Given the description of an element on the screen output the (x, y) to click on. 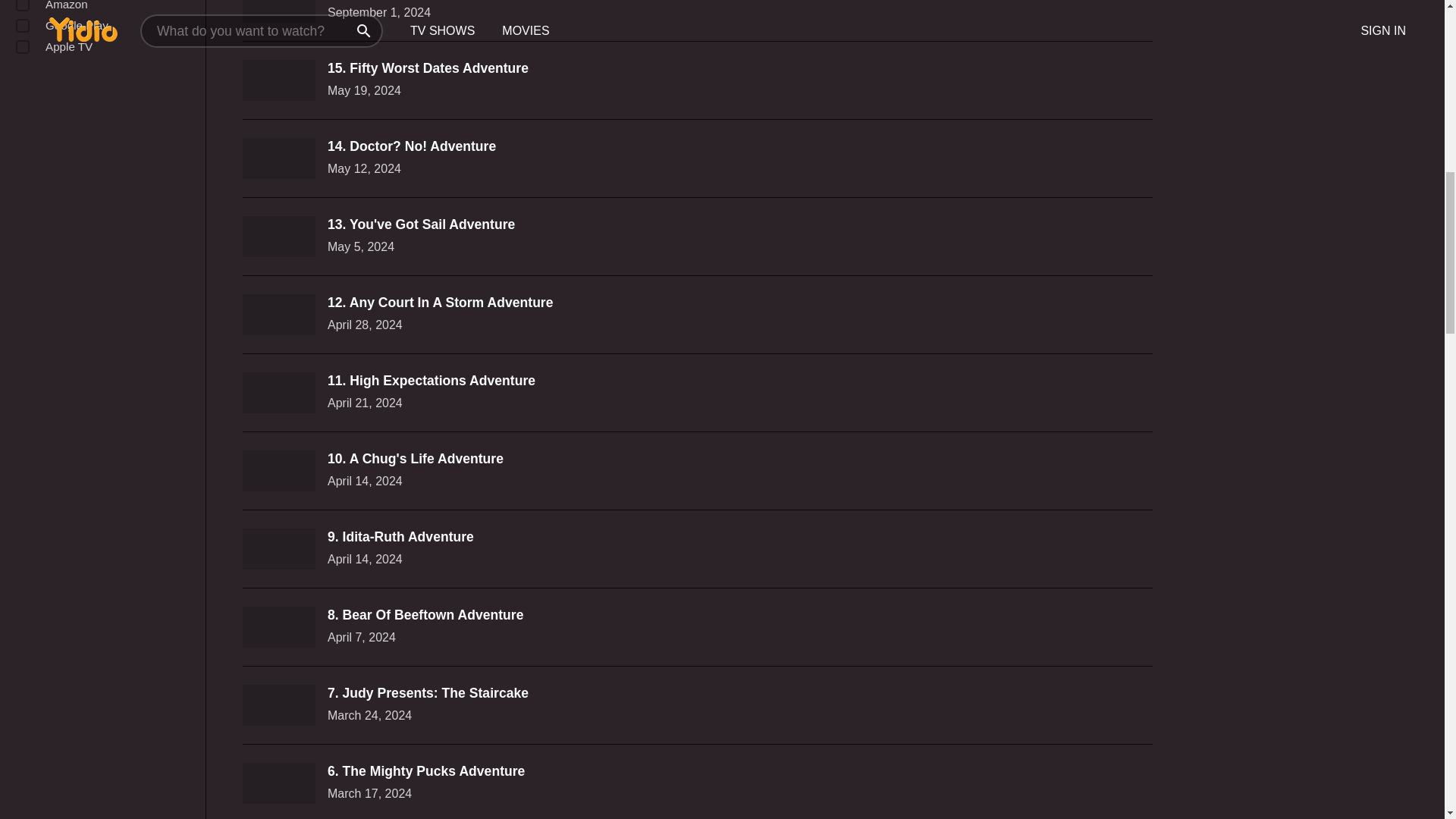
19 (22, 47)
16 (22, 5)
4 (22, 25)
